Given the description of an element on the screen output the (x, y) to click on. 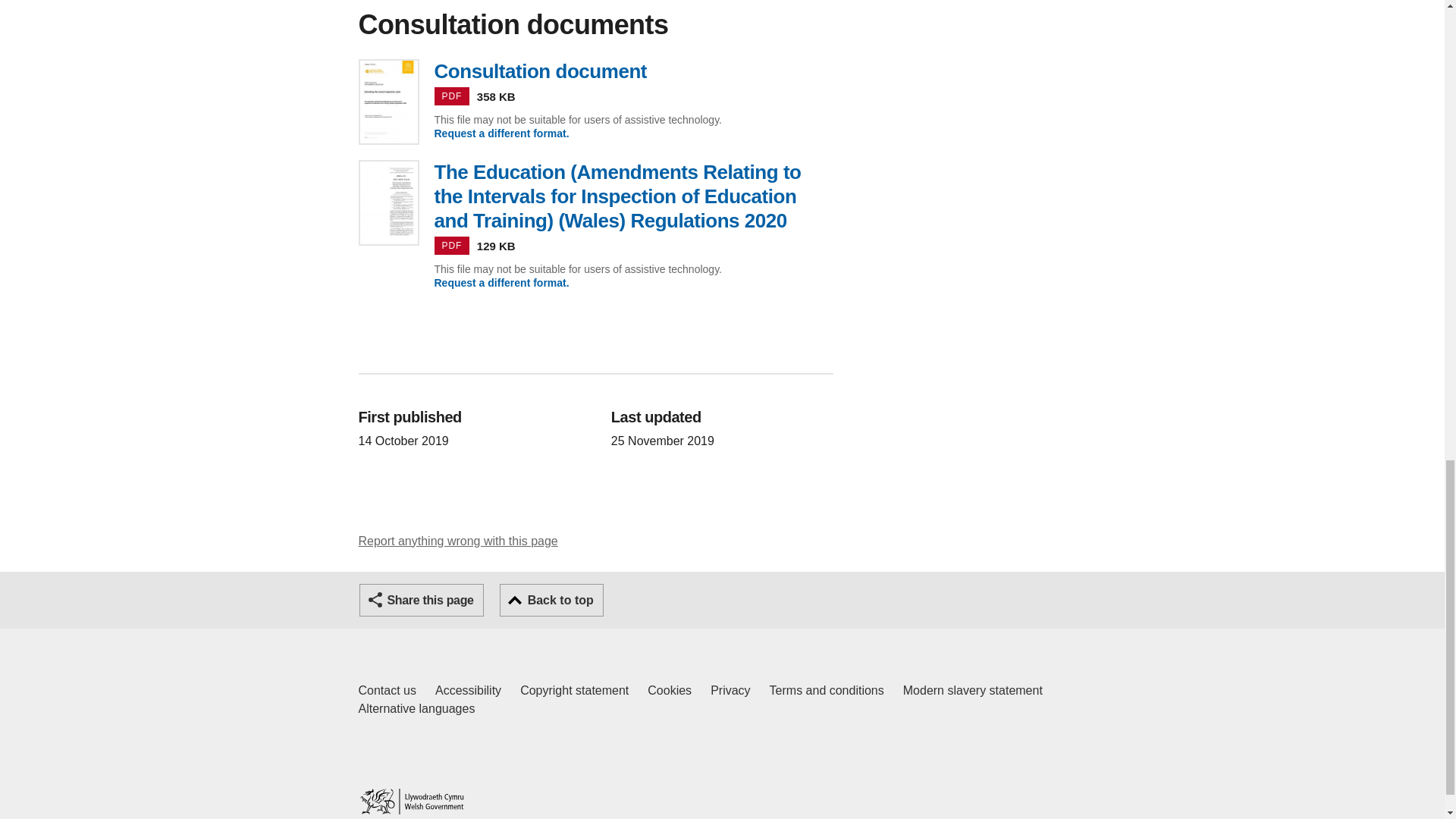
Home (386, 690)
Cookies (411, 801)
Modern slavery statement (669, 690)
Request a different format. (972, 690)
Back to top (501, 282)
Request a different format. (551, 599)
Terms and conditions (501, 133)
Privacy (826, 690)
Alternative languages (729, 690)
Share this page (416, 709)
Accessibility (421, 599)
Copyright statement (467, 690)
Report anything wrong with this page (573, 690)
